Given the description of an element on the screen output the (x, y) to click on. 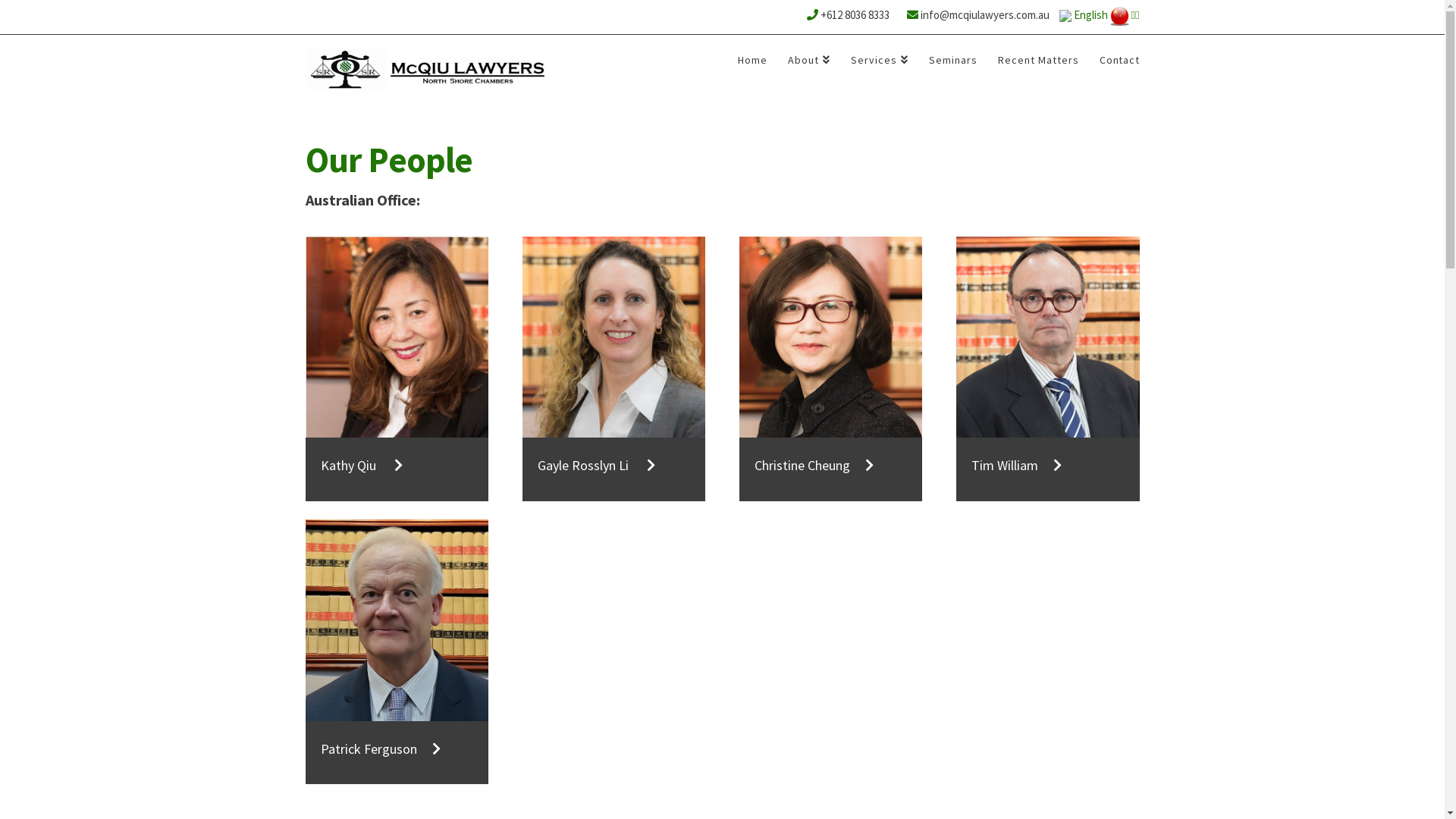
Recent Matters Element type: text (1037, 64)
Gayle Rosslyn Li Element type: text (613, 416)
Kathy Qiu Element type: text (395, 416)
About Element type: text (808, 64)
Seminars Element type: text (952, 64)
Patrick Ferguson Element type: text (395, 699)
Christine Cheung Element type: text (830, 416)
Services Element type: text (879, 64)
Tim William Element type: text (1047, 416)
Contact Element type: text (1113, 64)
English Element type: text (1083, 14)
Home Element type: text (752, 64)
